Given the description of an element on the screen output the (x, y) to click on. 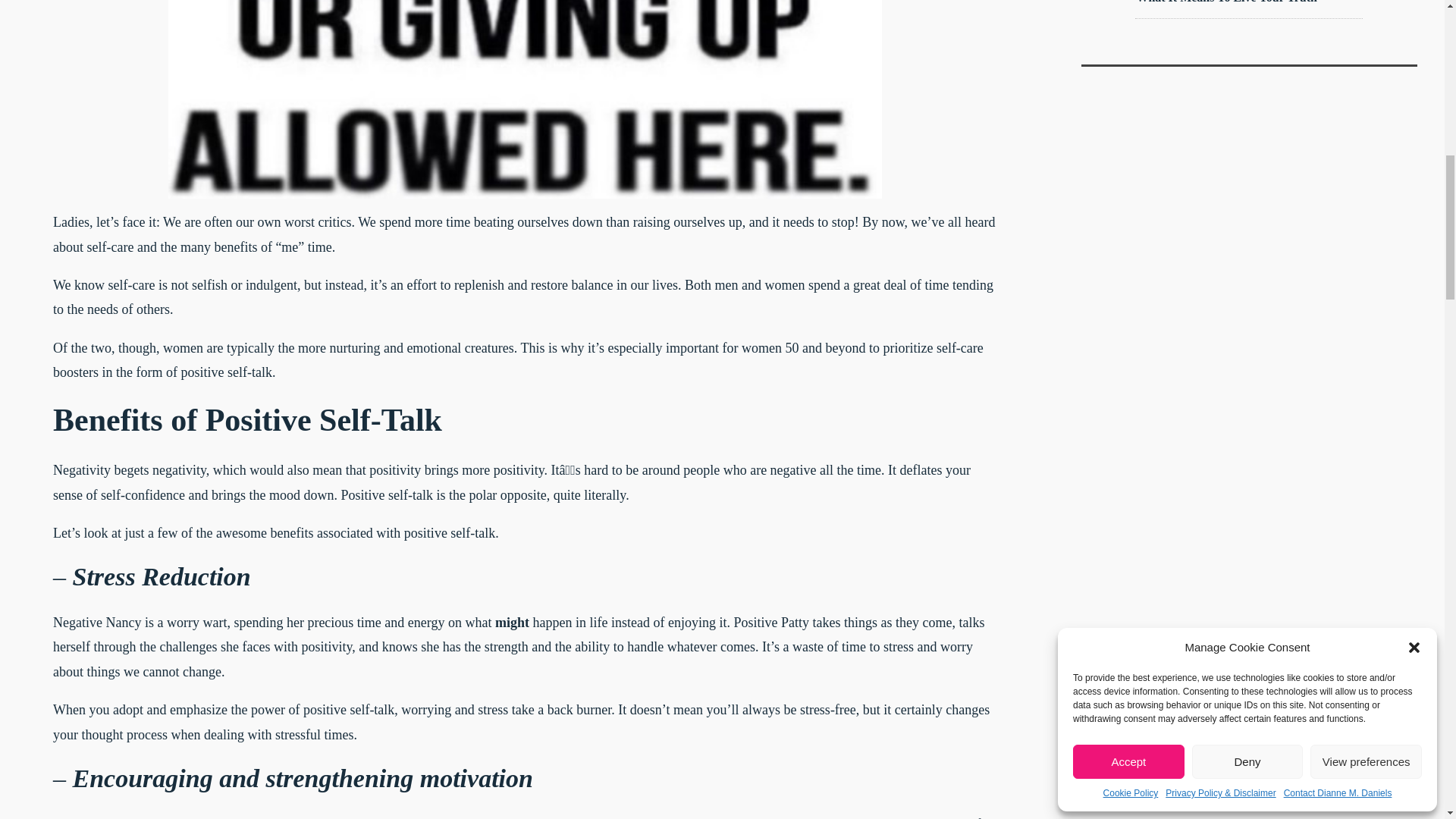
What It Means To Live Your Truth (1226, 2)
